Given the description of an element on the screen output the (x, y) to click on. 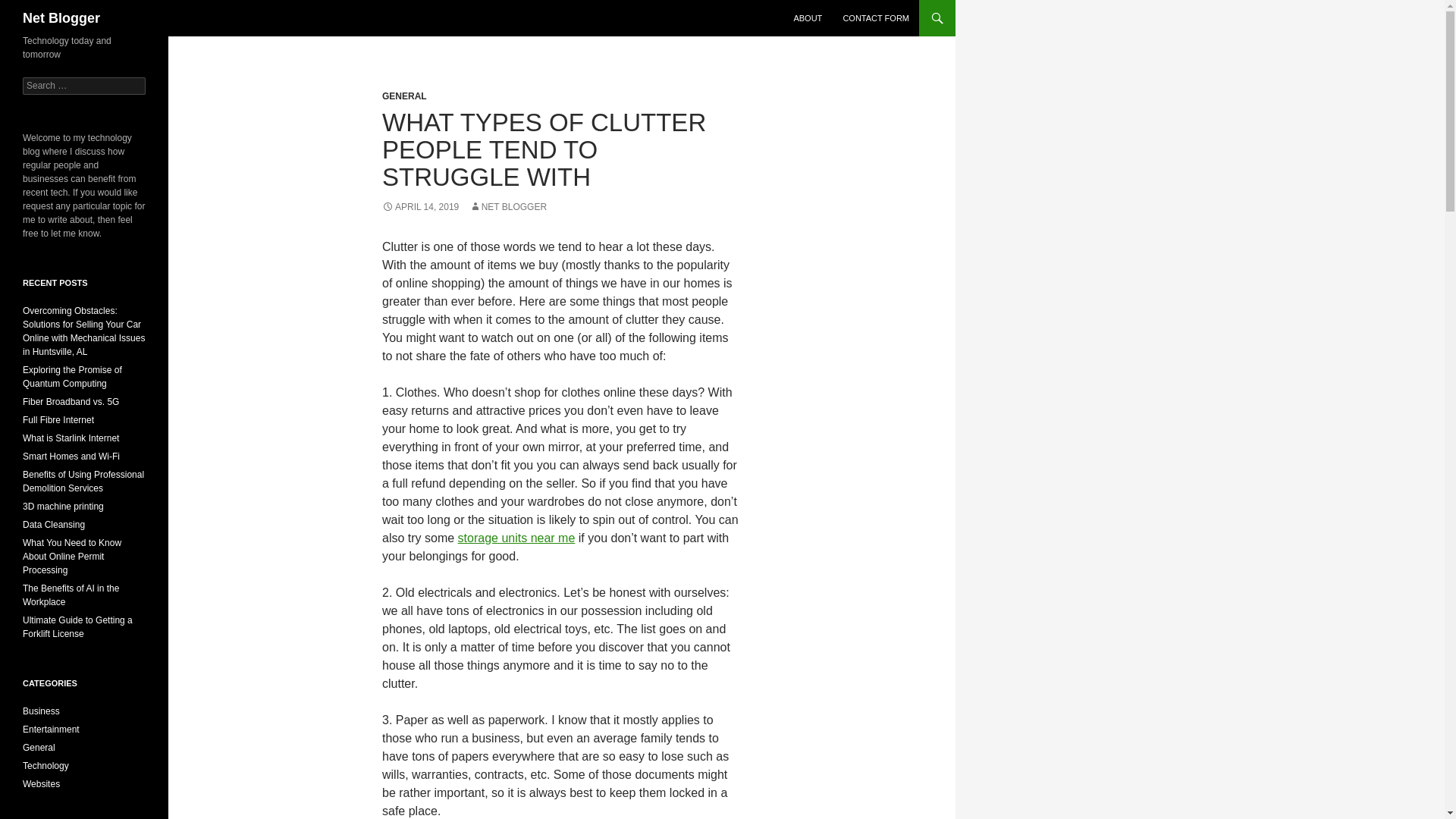
Ultimate Guide to Getting a Forklift License (77, 627)
Data Cleansing (53, 524)
ABOUT (807, 18)
Search (30, 8)
Full Fibre Internet (58, 419)
3D machine printing (63, 506)
NET BLOGGER (507, 206)
Smart Homes and Wi-Fi (71, 456)
GENERAL (403, 95)
The Benefits of AI in the Workplace (71, 595)
Technology (45, 765)
What You Need to Know About Online Permit Processing (71, 556)
Business (41, 710)
What is Starlink Internet (71, 438)
Exploring the Promise of Quantum Computing (72, 376)
